Given the description of an element on the screen output the (x, y) to click on. 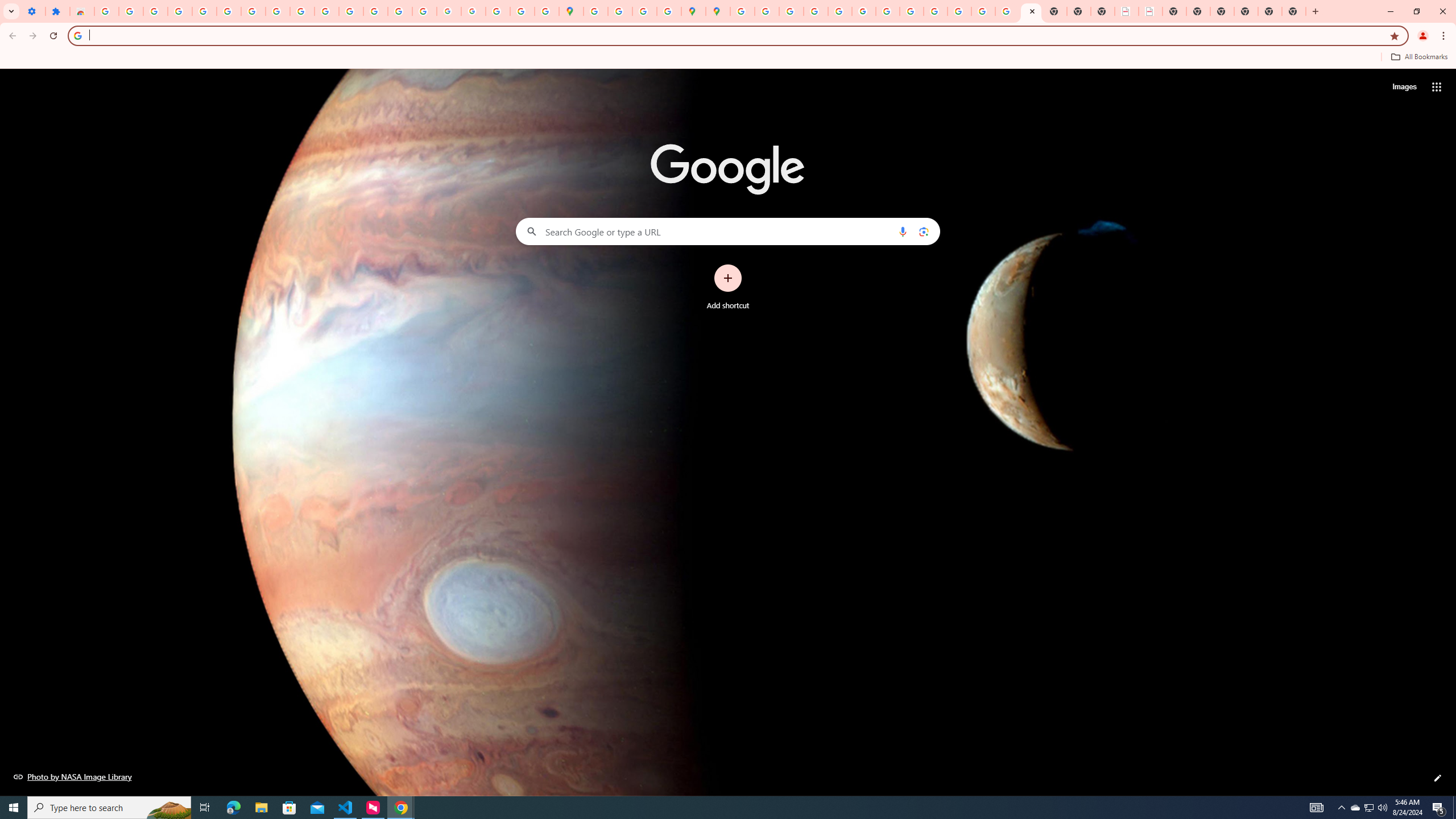
Customize this page (1437, 778)
YouTube (887, 11)
Privacy Help Center - Policies Help (791, 11)
